Given the description of an element on the screen output the (x, y) to click on. 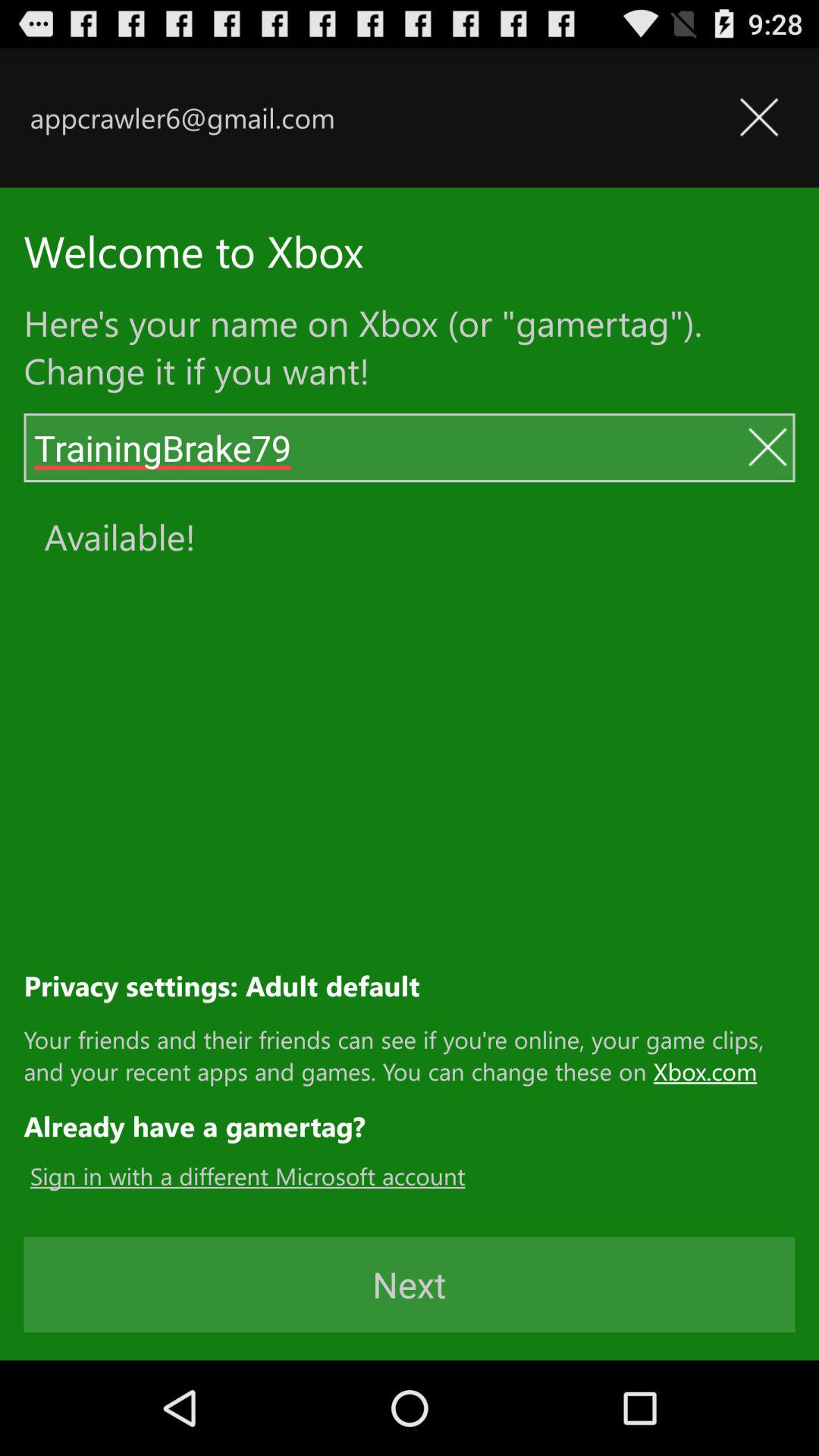
click on the name text field above available (384, 448)
click on the close button beside the text appcrawlergmailcom (758, 117)
click the next button (409, 1284)
click  cancel (766, 447)
